Given the description of an element on the screen output the (x, y) to click on. 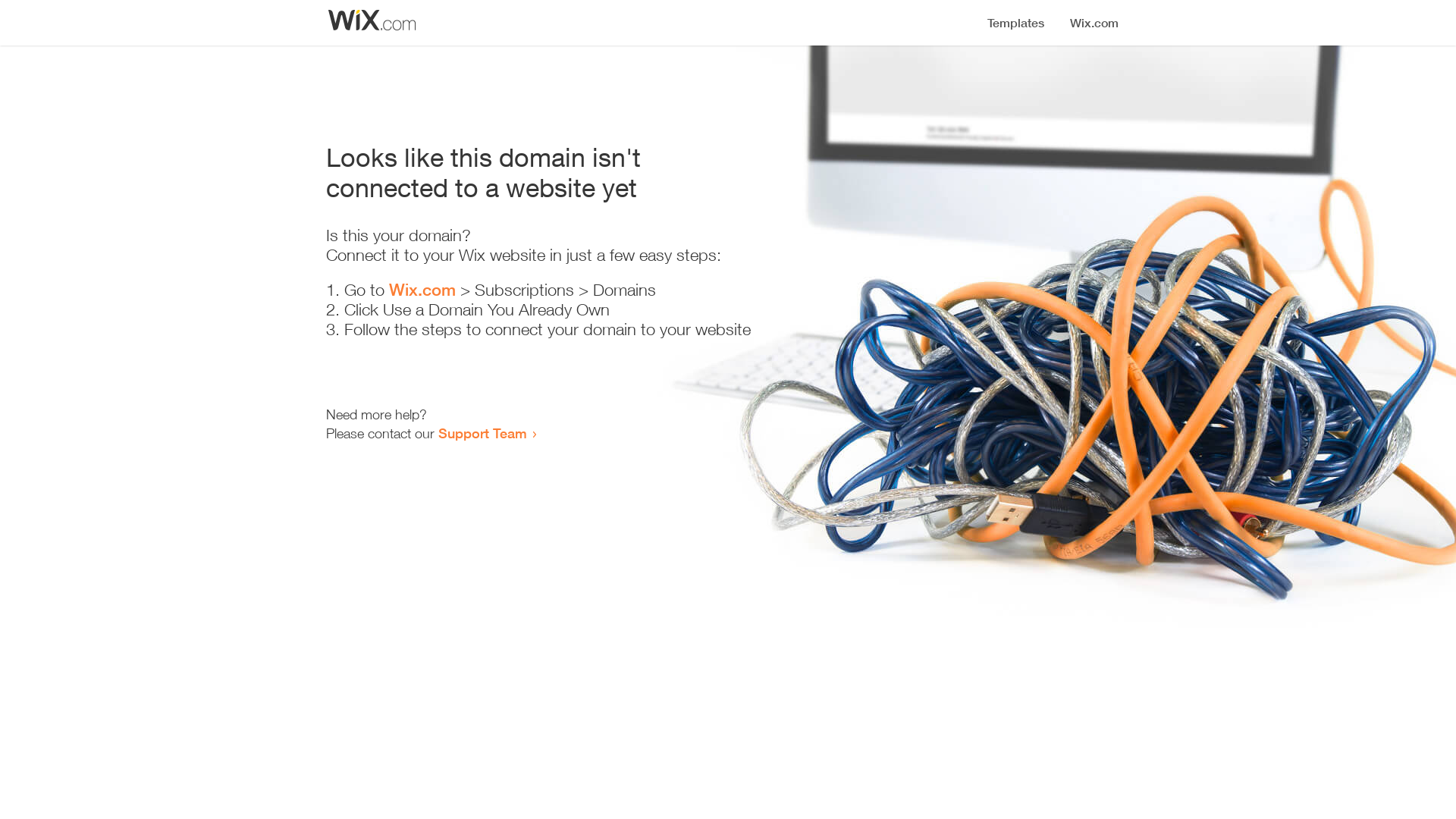
Support Team Element type: text (482, 432)
Wix.com Element type: text (422, 289)
